Given the description of an element on the screen output the (x, y) to click on. 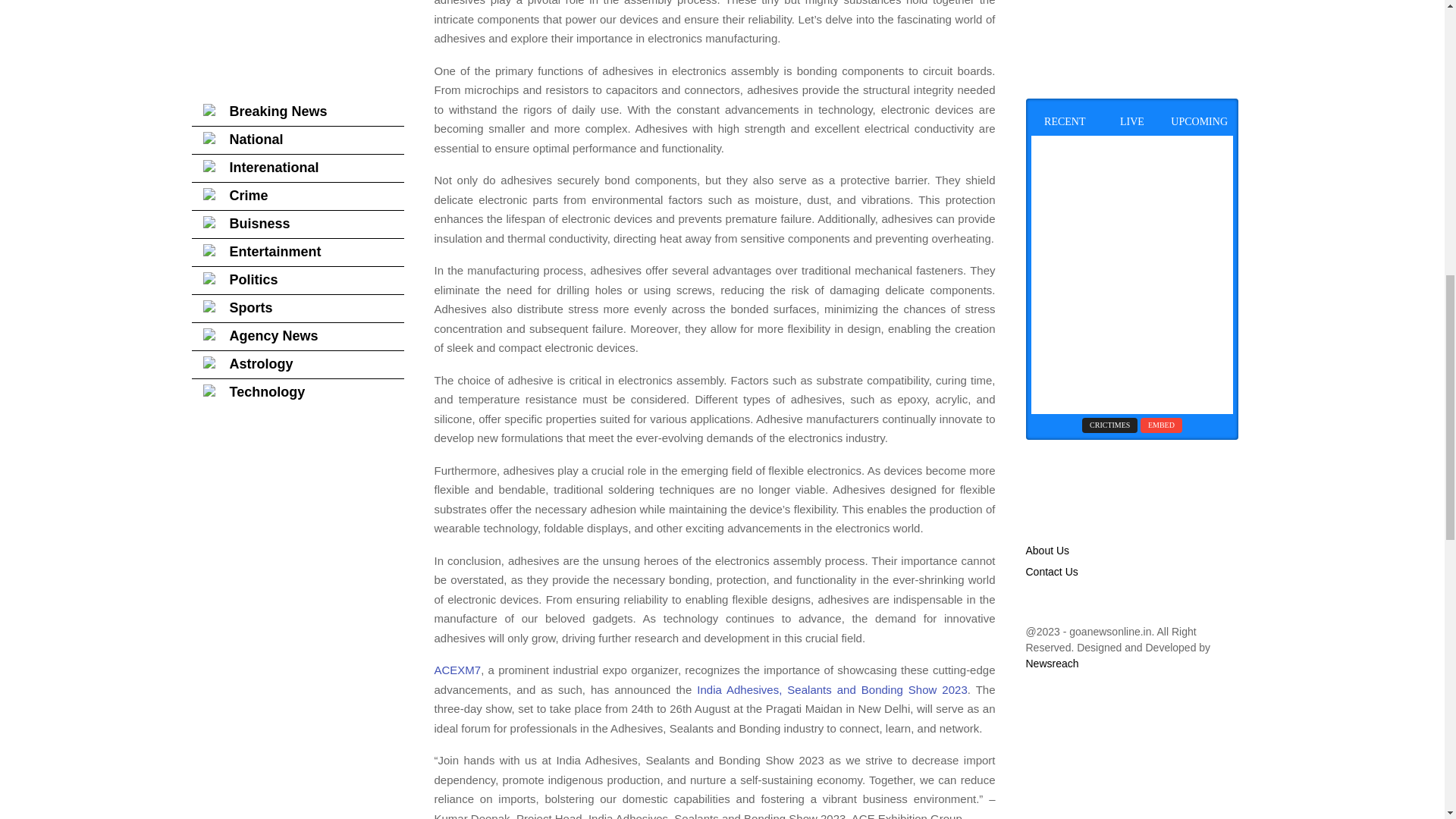
ACEXM7 (456, 669)
India Adhesives, Sealants and Bonding Show 2023 (828, 689)
